Given the description of an element on the screen output the (x, y) to click on. 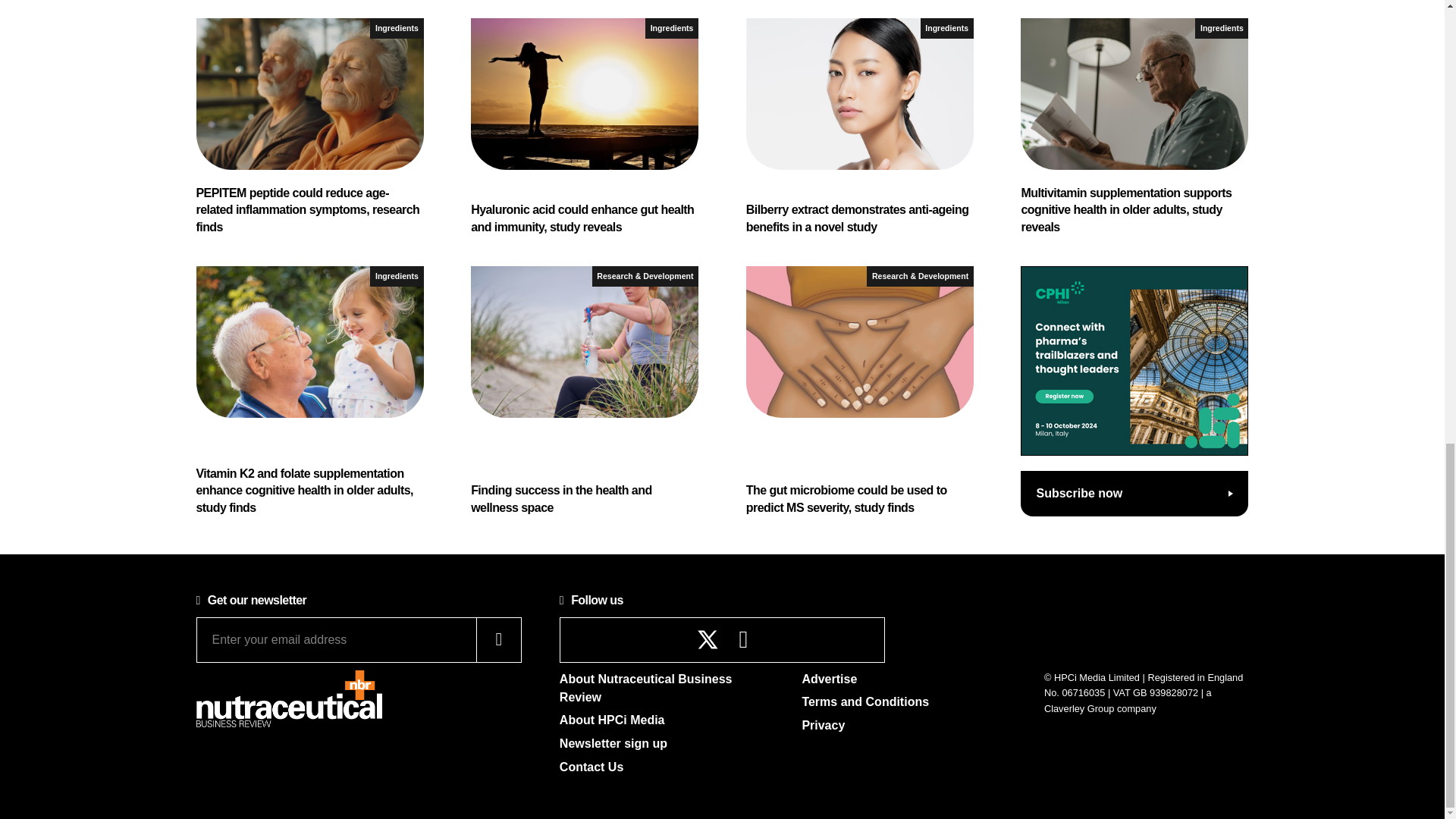
Ingredients (671, 28)
Ingredients (1221, 28)
Ingredients (947, 28)
Ingredients (396, 28)
Finding success in the health and wellness space (584, 391)
Ingredients (396, 276)
Follow Nutraceutical Business Review on X (708, 639)
